Given the description of an element on the screen output the (x, y) to click on. 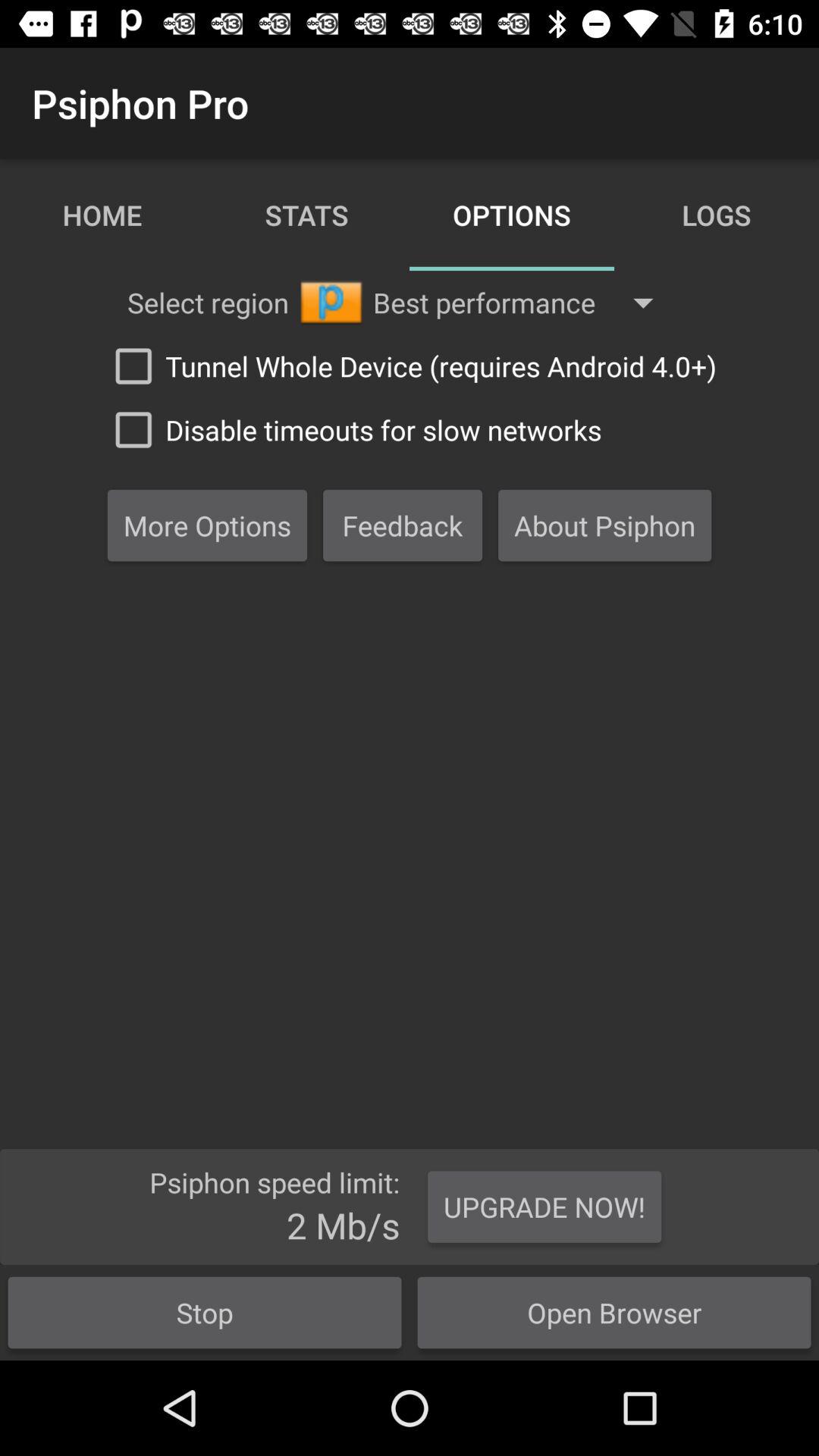
click on upgrade now (544, 1206)
click on about psiphon (604, 525)
